Given the description of an element on the screen output the (x, y) to click on. 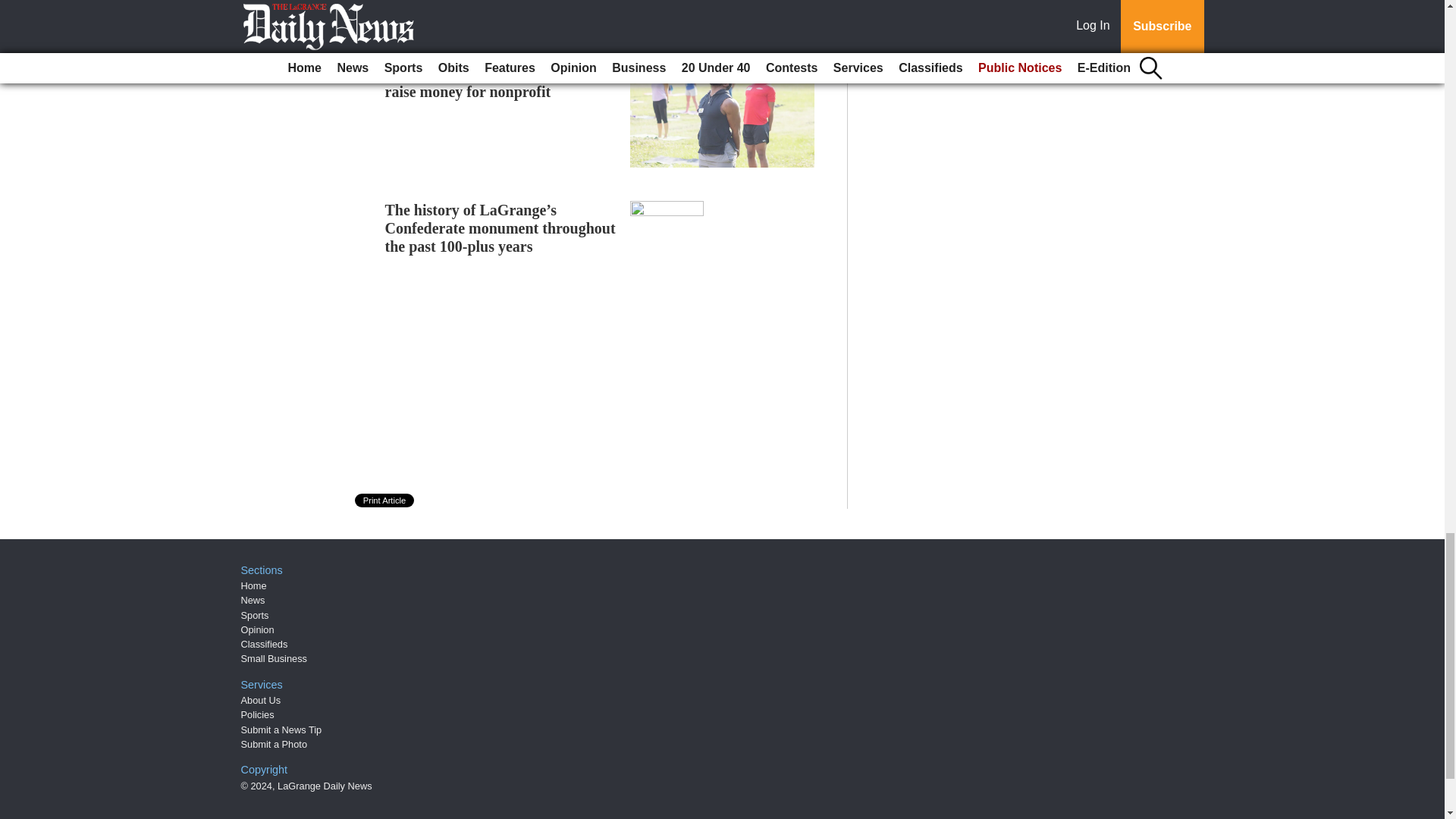
Yoga in the park: Dozens gather to raise money for nonprofit (497, 82)
Print Article (384, 499)
Home (253, 585)
Yoga in the park: Dozens gather to raise money for nonprofit (497, 82)
